Given the description of an element on the screen output the (x, y) to click on. 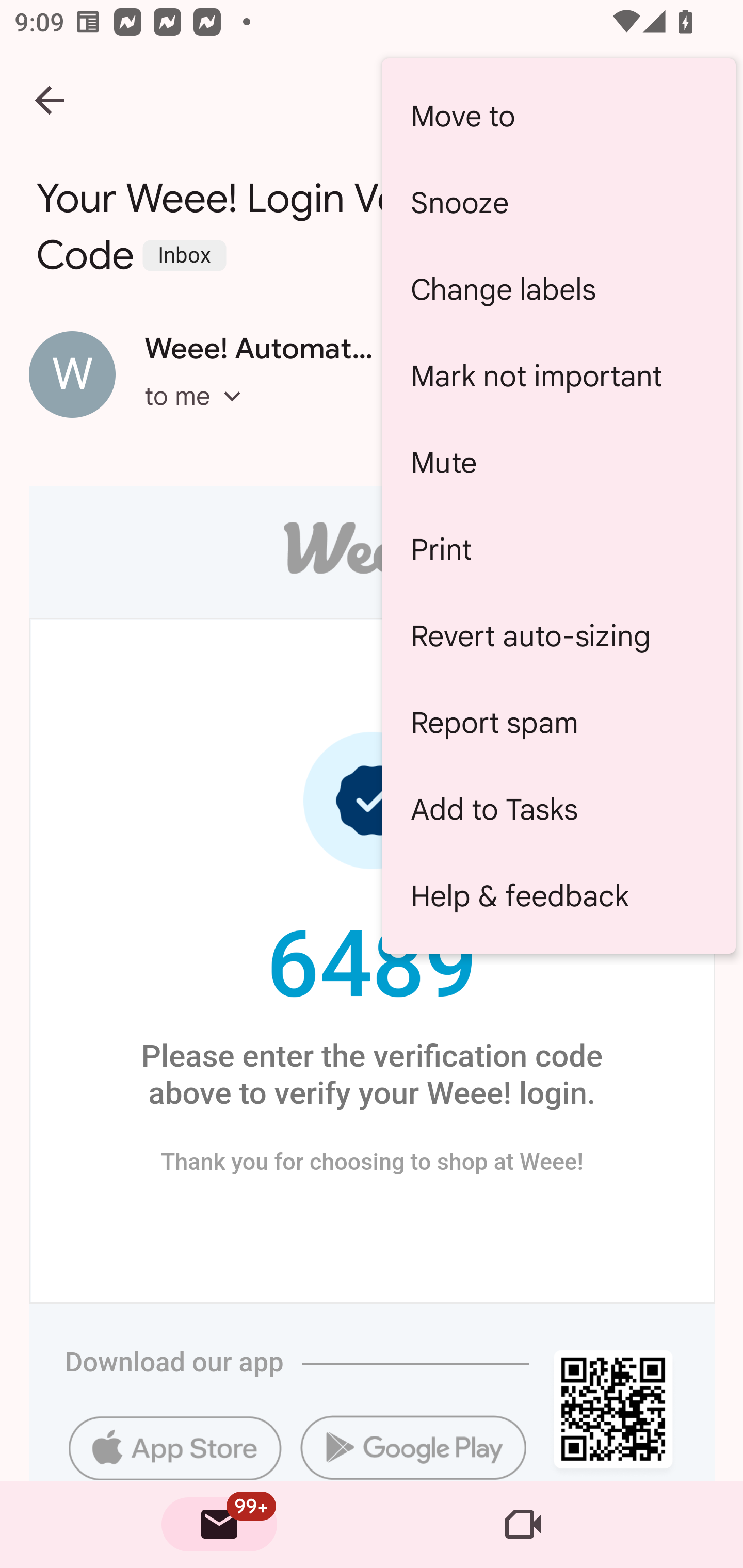
Move to (558, 115)
Snooze (558, 202)
Change labels (558, 289)
Mark not important (558, 375)
Mute (558, 462)
Print (558, 549)
Revert auto-sizing (558, 635)
Report spam (558, 721)
Add to Tasks (558, 808)
Help & feedback (558, 895)
